Given the description of an element on the screen output the (x, y) to click on. 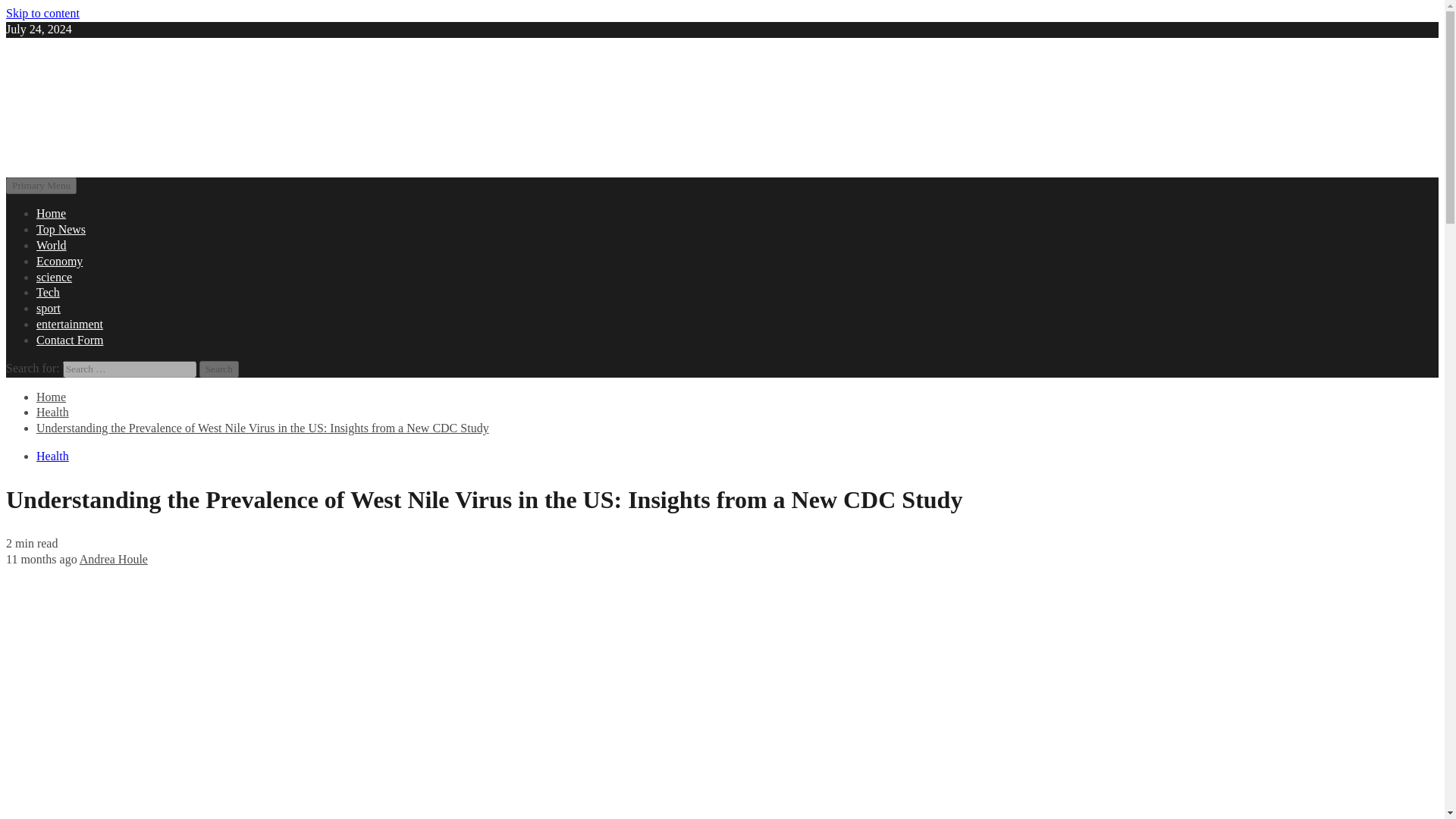
Tech (47, 291)
Search (218, 369)
Economy (59, 260)
Home (50, 213)
Health (52, 411)
science (53, 277)
Home (50, 396)
Primary Menu (41, 185)
Search (218, 369)
Andrea Houle (114, 558)
Health (52, 455)
entertainment (69, 323)
Contact Form (69, 339)
World (51, 245)
